Given the description of an element on the screen output the (x, y) to click on. 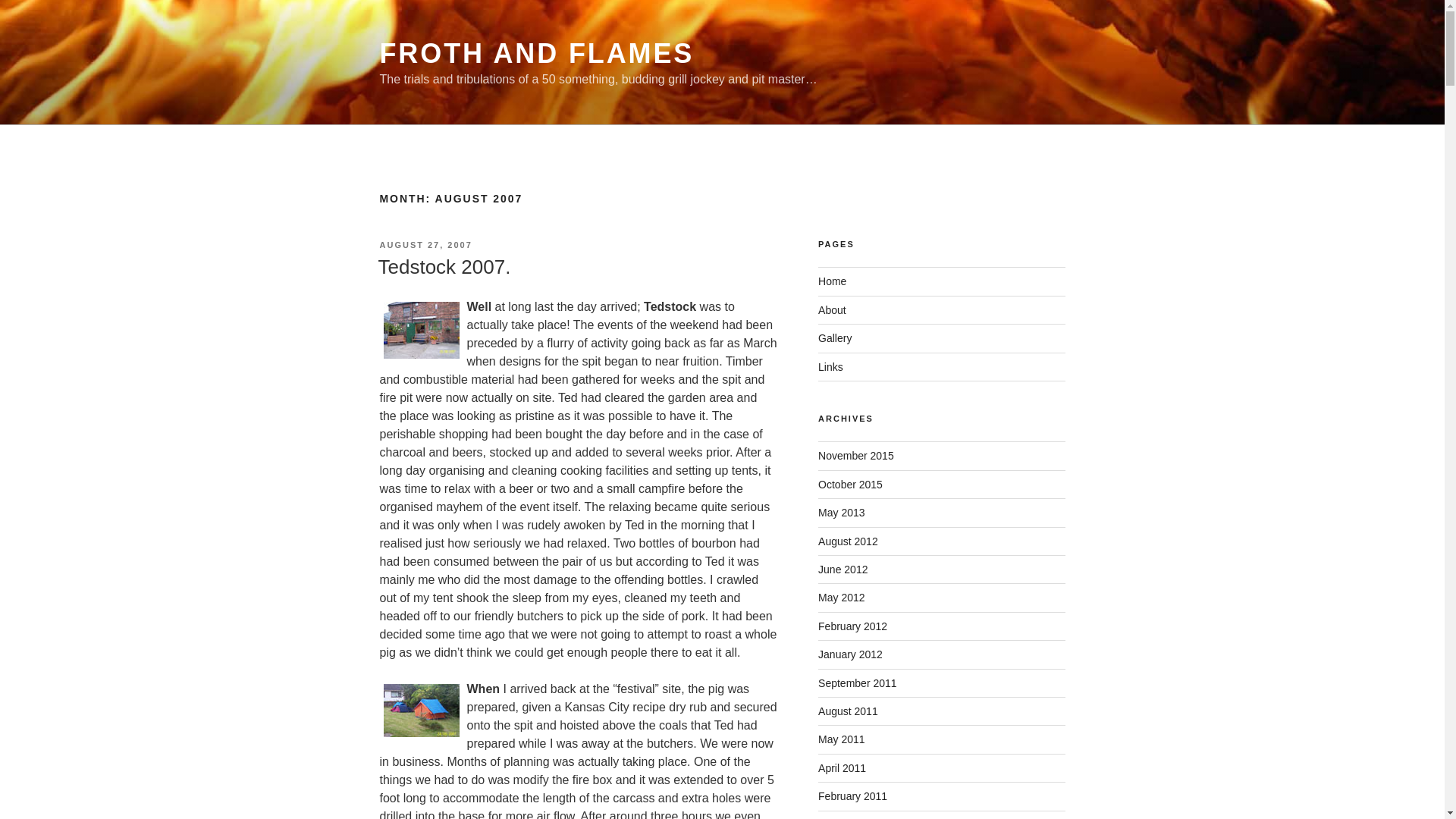
Home (831, 281)
AUGUST 27, 2007 (424, 244)
Links (830, 367)
November 2015 (855, 455)
Tedstock 2007. (444, 266)
About (831, 309)
Gallery (834, 337)
FROTH AND FLAMES (536, 52)
October 2015 (850, 484)
